Given the description of an element on the screen output the (x, y) to click on. 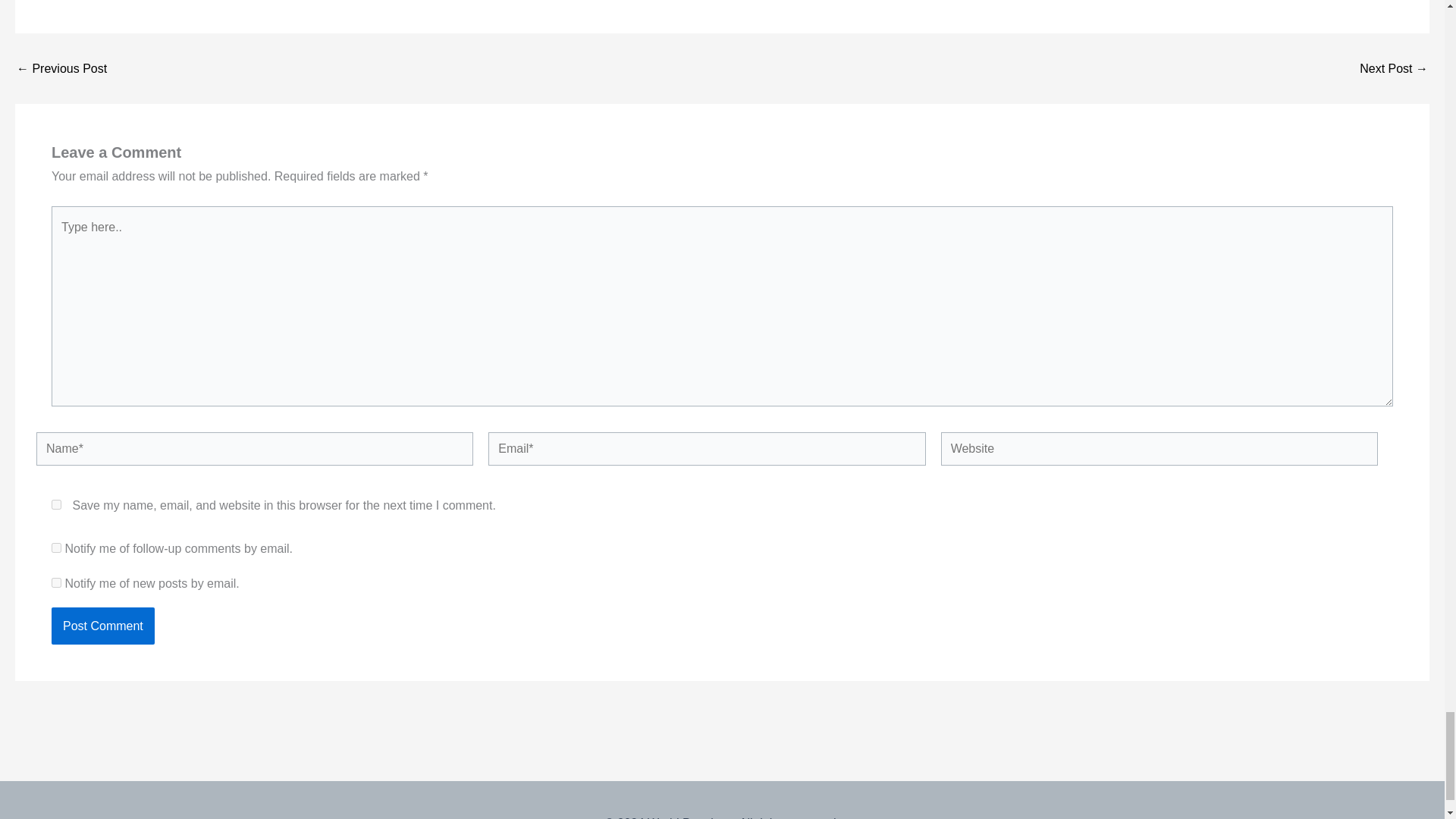
yes (55, 504)
subscribe (55, 583)
Post Comment (102, 626)
subscribe (55, 547)
